Given the description of an element on the screen output the (x, y) to click on. 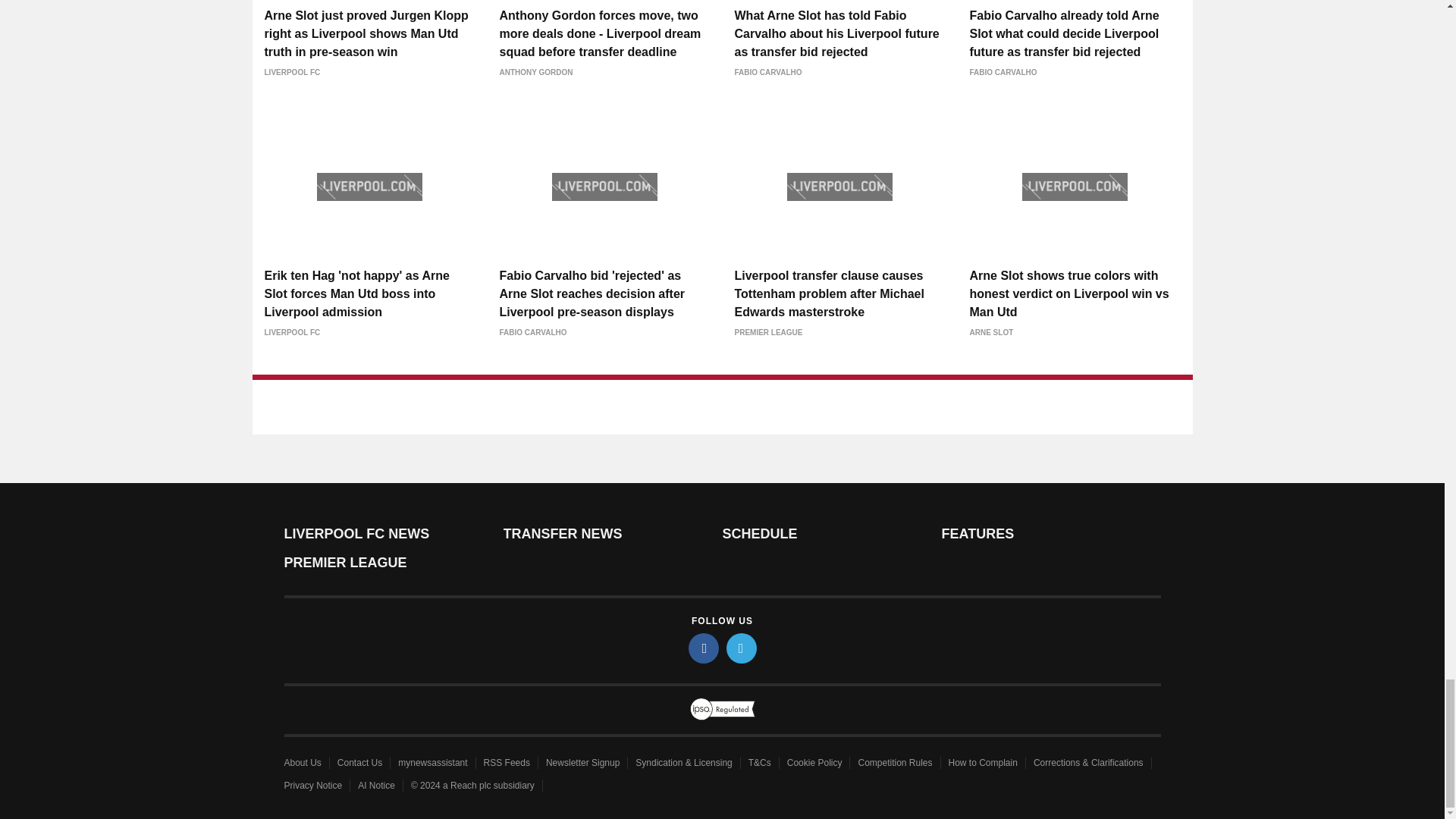
facebook (703, 647)
twitter (741, 647)
